Given the description of an element on the screen output the (x, y) to click on. 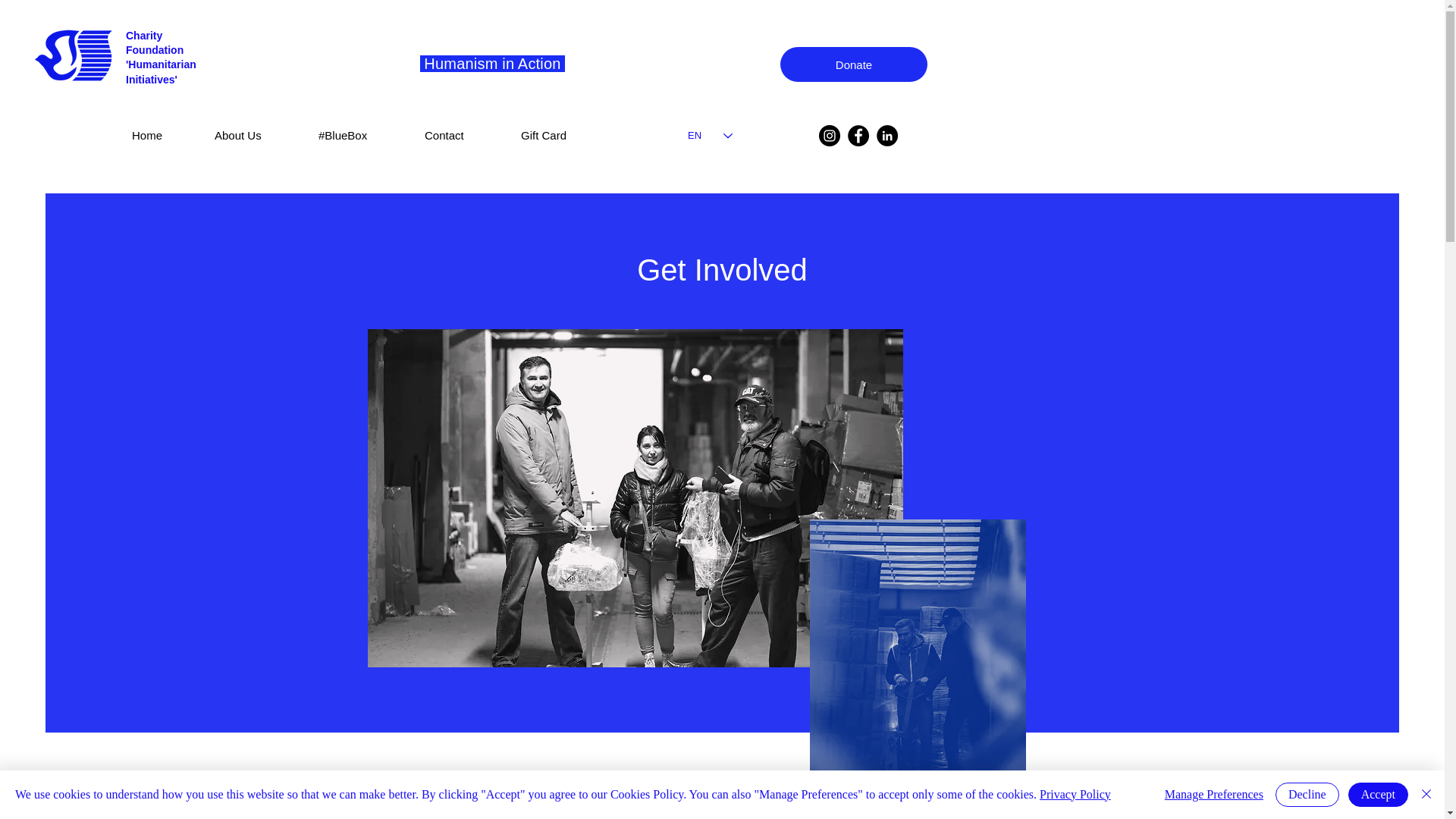
Contact (467, 128)
Charity Foundation 'Humanitarian Initiatives' (160, 57)
Decline (1307, 794)
Donate (853, 63)
Privacy Policy (1074, 793)
Gift Card (566, 128)
Home (166, 128)
Accept (1377, 794)
